Given the description of an element on the screen output the (x, y) to click on. 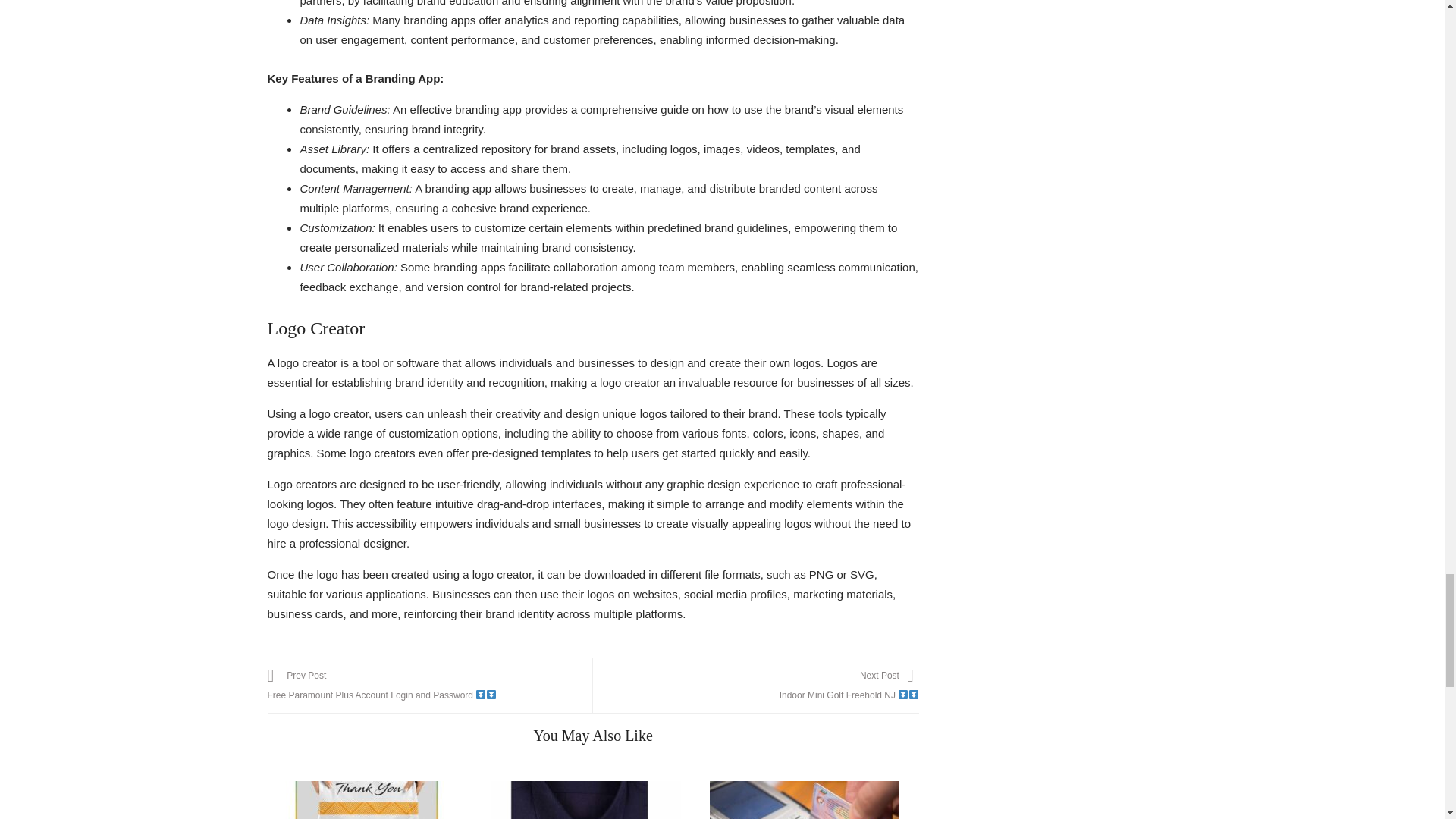
Clear Poly Bags (367, 800)
Blue Shirts (755, 685)
How To Change Card On Shein: Payment Method, Account (585, 800)
